Given the description of an element on the screen output the (x, y) to click on. 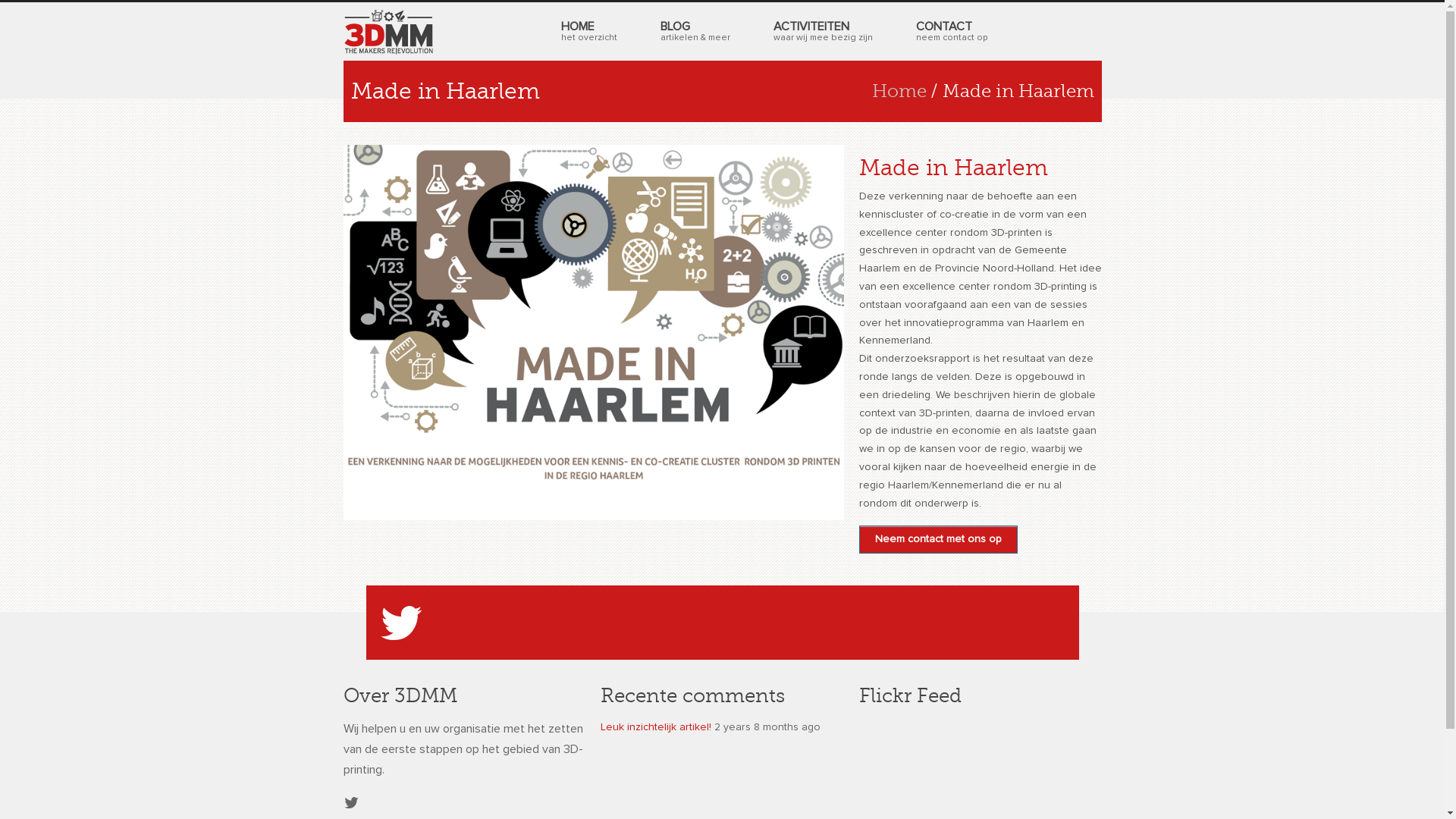
Leuk inzichtelijk artikel! Element type: text (655, 726)
Home Element type: text (899, 91)
ACTIVITEITEN
waar wij mee bezig zijn Element type: text (822, 31)
Neem contact met ons op Element type: text (938, 539)
HOME
het overzicht Element type: text (588, 31)
BLOG
artikelen & meer Element type: text (695, 31)
Made in Haarlem Element type: text (953, 167)
CONTACT
neem contact op Element type: text (950, 31)
